Given the description of an element on the screen output the (x, y) to click on. 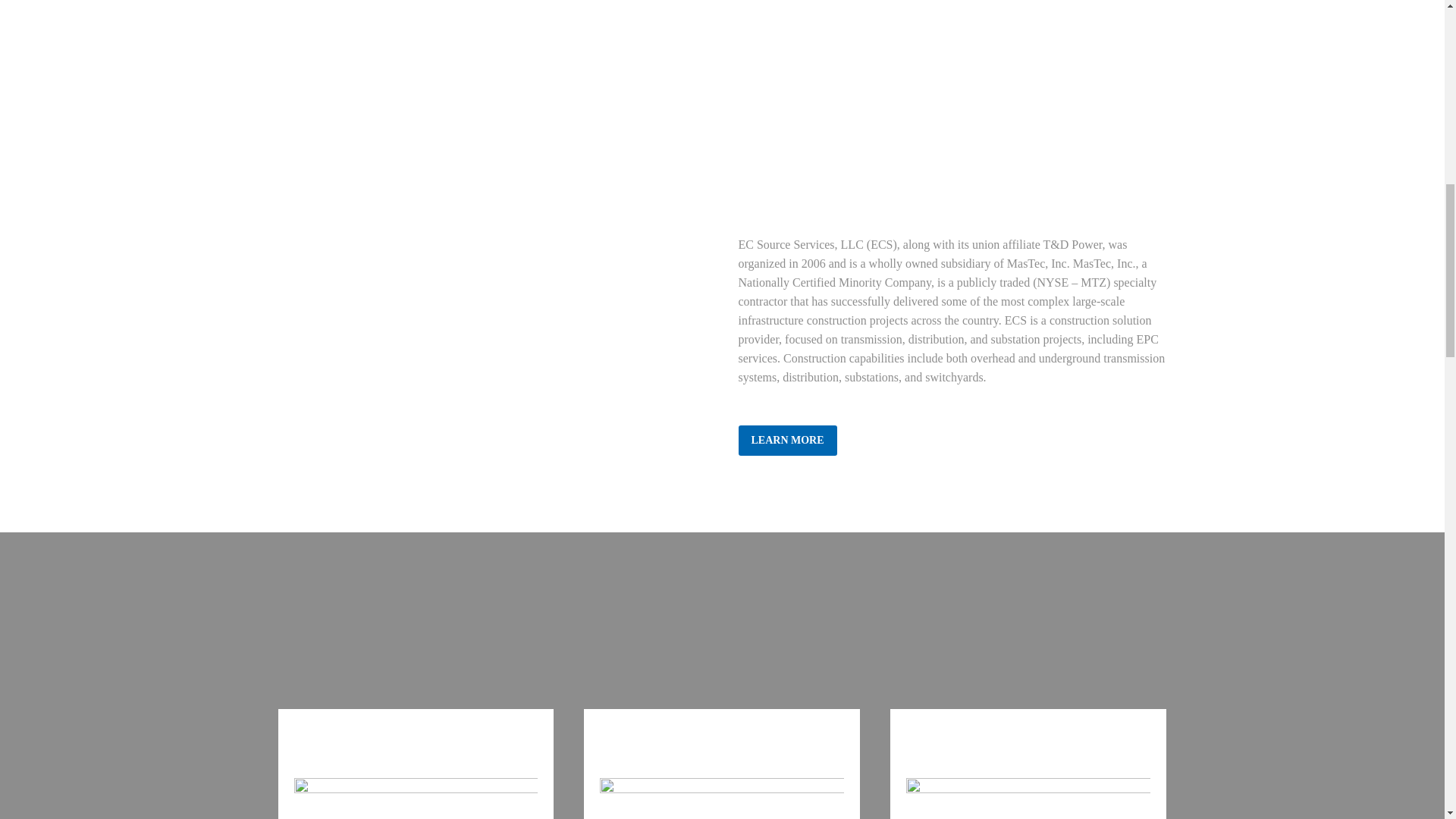
substation (1027, 798)
LEARN MORE (787, 440)
About Us (787, 440)
distribution (721, 798)
transmission (416, 798)
